Given the description of an element on the screen output the (x, y) to click on. 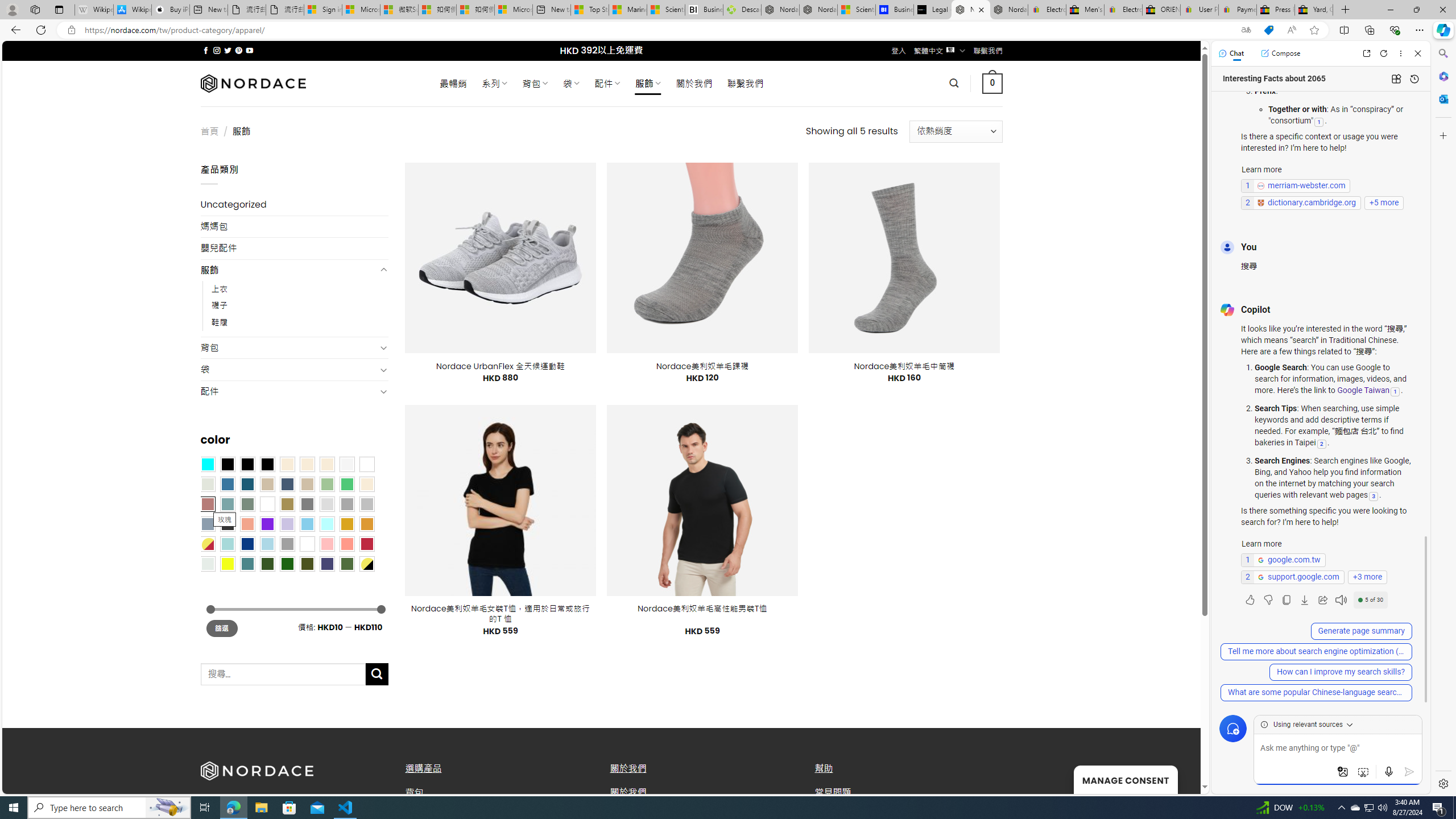
Dull Nickle (207, 563)
 0  (992, 83)
